Given the description of an element on the screen output the (x, y) to click on. 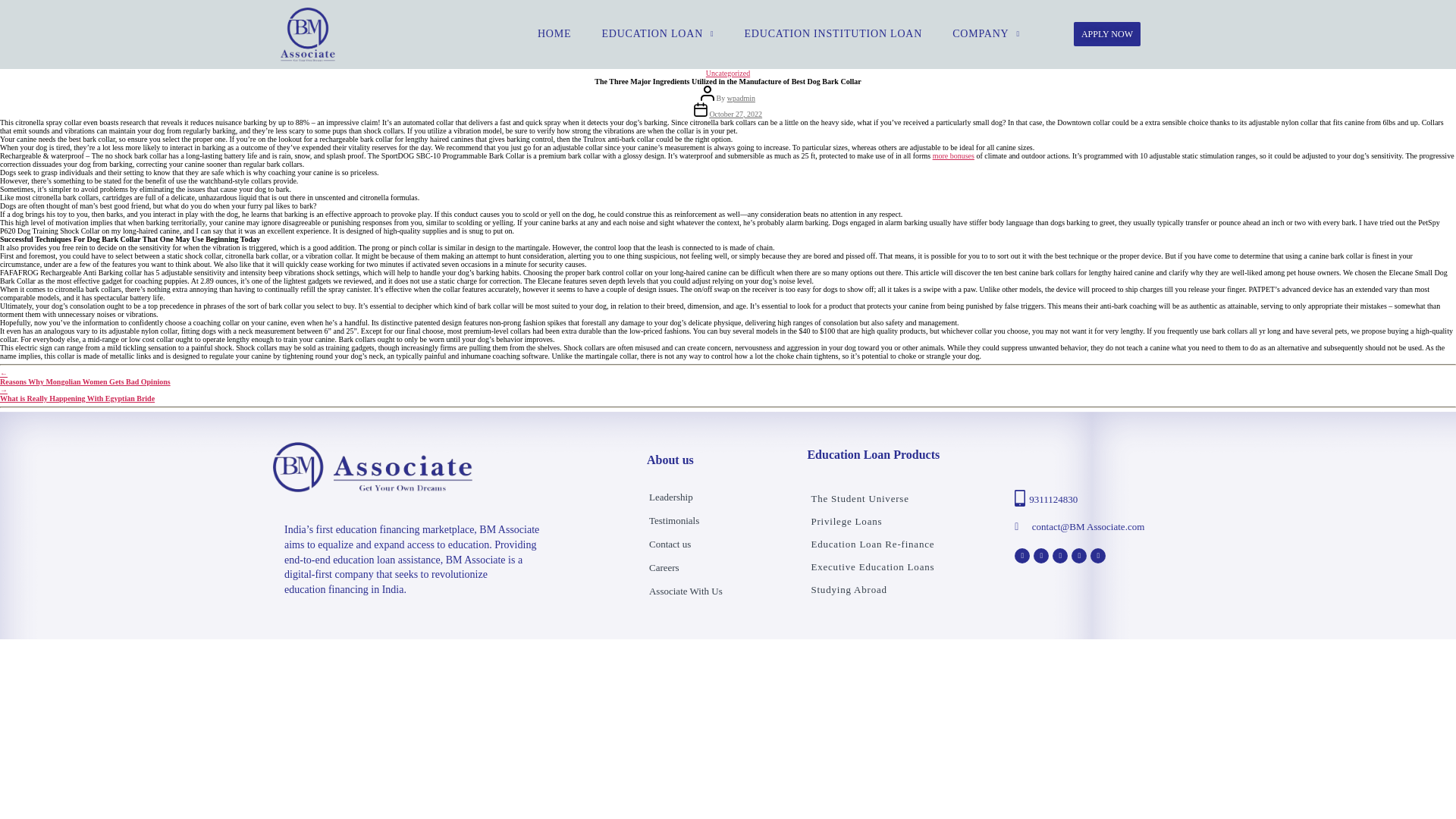
APPLY NOW (1107, 33)
October 27, 2022 (735, 113)
EDUCATION INSTITUTION LOAN (833, 33)
EDUCATION LOAN (656, 33)
COMPANY (986, 33)
wpadmin (740, 98)
Uncategorized (727, 72)
HOME (554, 33)
more bonuses (953, 155)
